Given the description of an element on the screen output the (x, y) to click on. 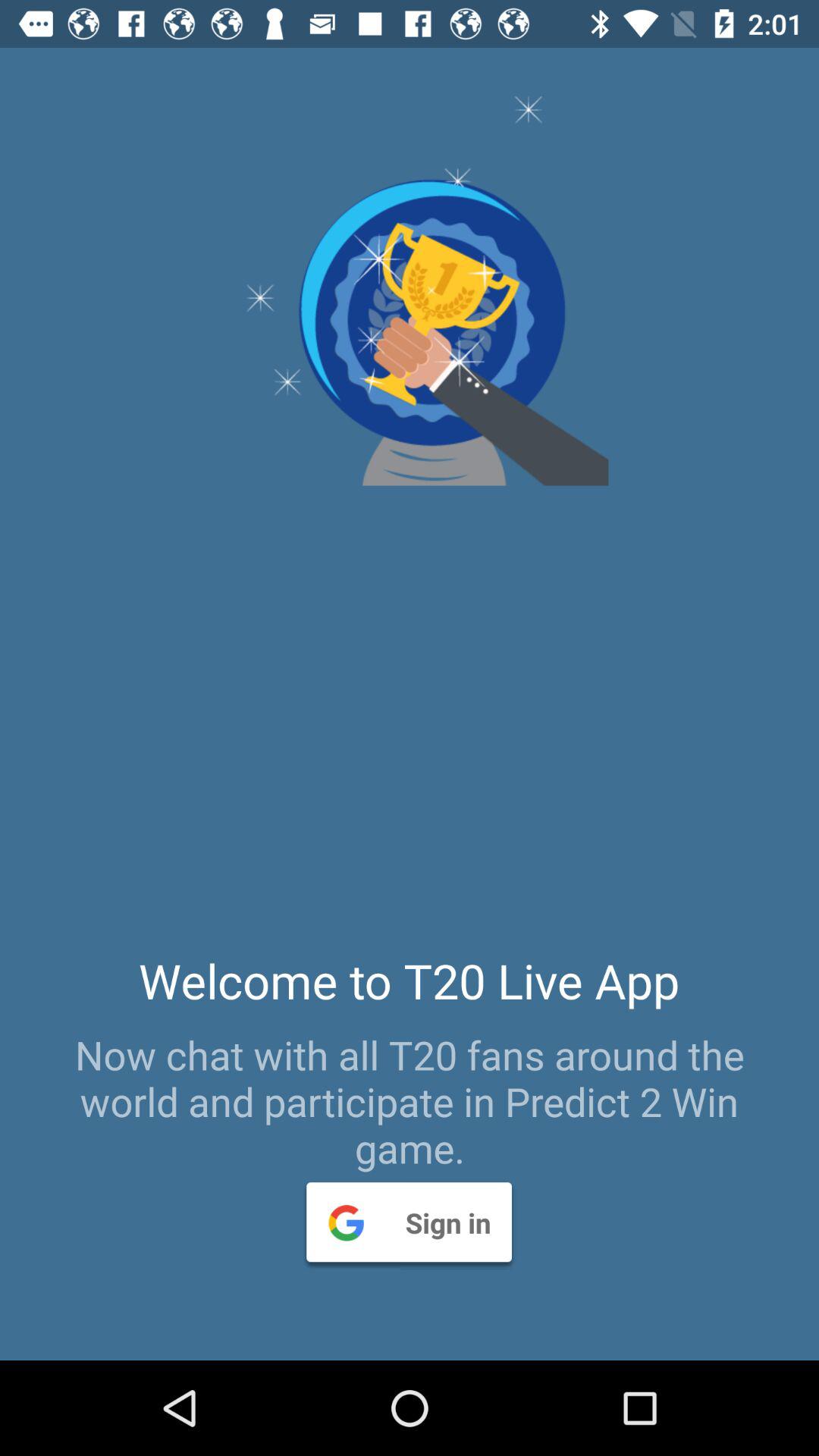
tap sign in item (408, 1222)
